Given the description of an element on the screen output the (x, y) to click on. 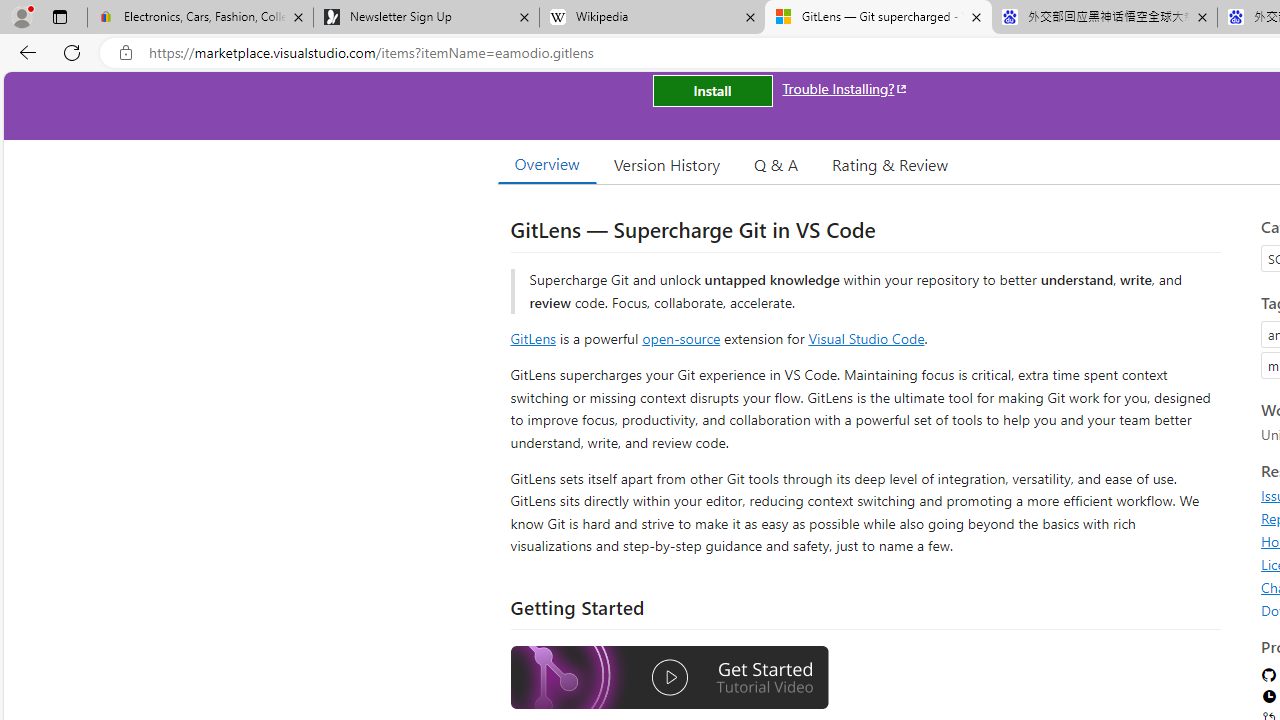
Watch the GitLens Getting Started video (669, 679)
Newsletter Sign Up (425, 17)
